Given the description of an element on the screen output the (x, y) to click on. 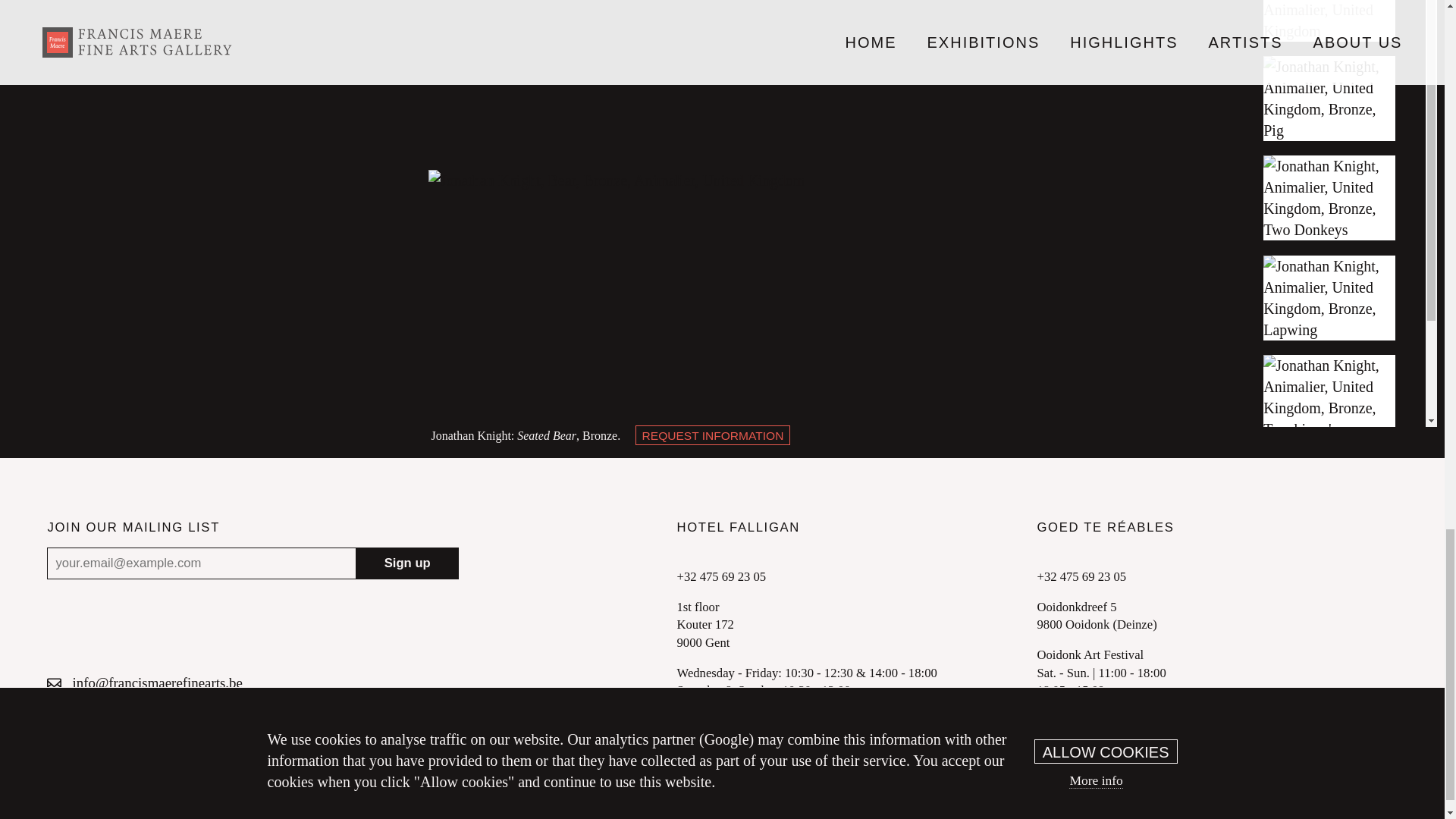
Follow us on instagram (140, 706)
Sign up (406, 563)
ROCAD (973, 778)
REQUEST INFORMATION (712, 435)
